Given the description of an element on the screen output the (x, y) to click on. 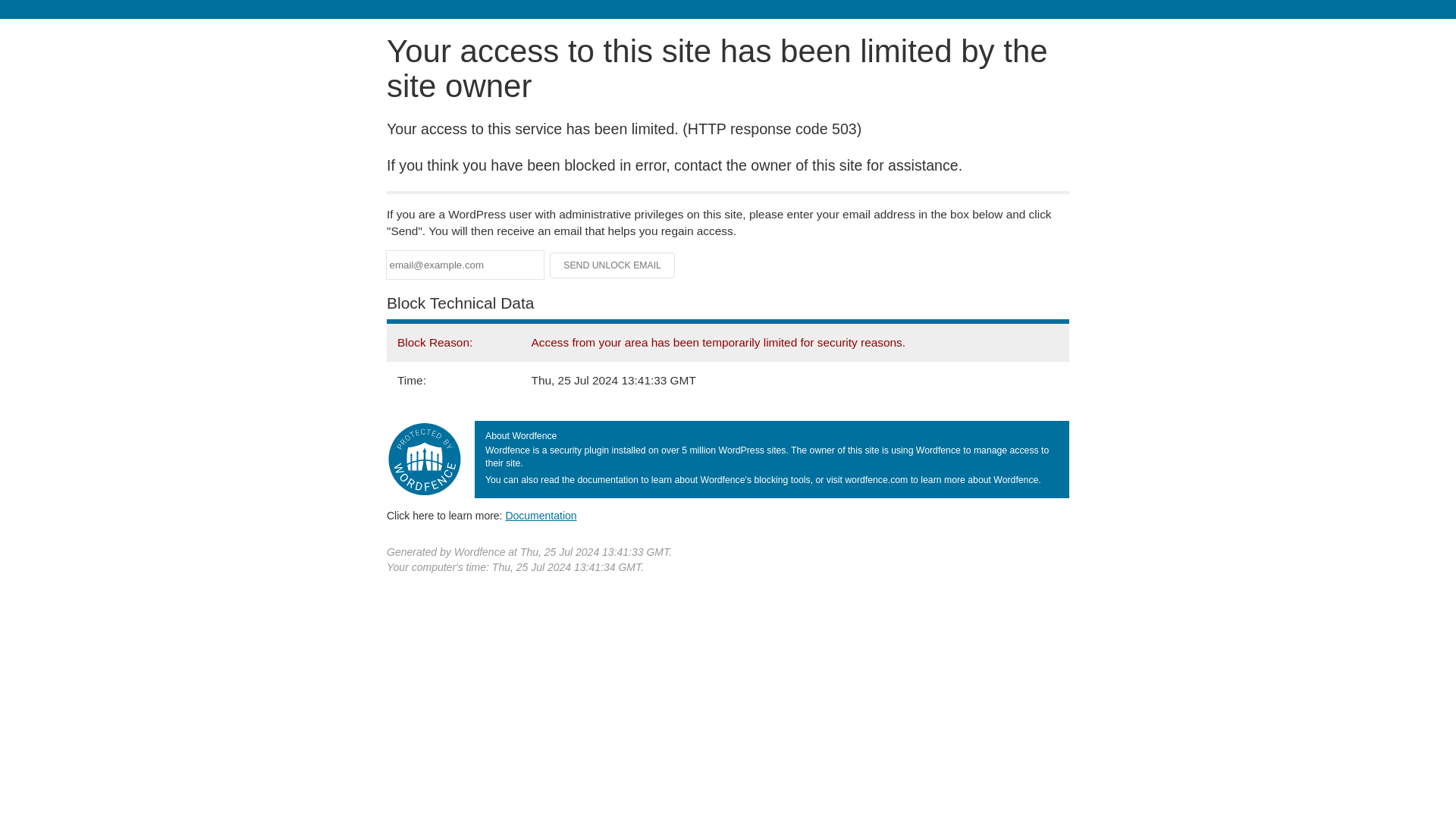
Documentation (540, 515)
Send Unlock Email (612, 265)
Send Unlock Email (612, 265)
